Given the description of an element on the screen output the (x, y) to click on. 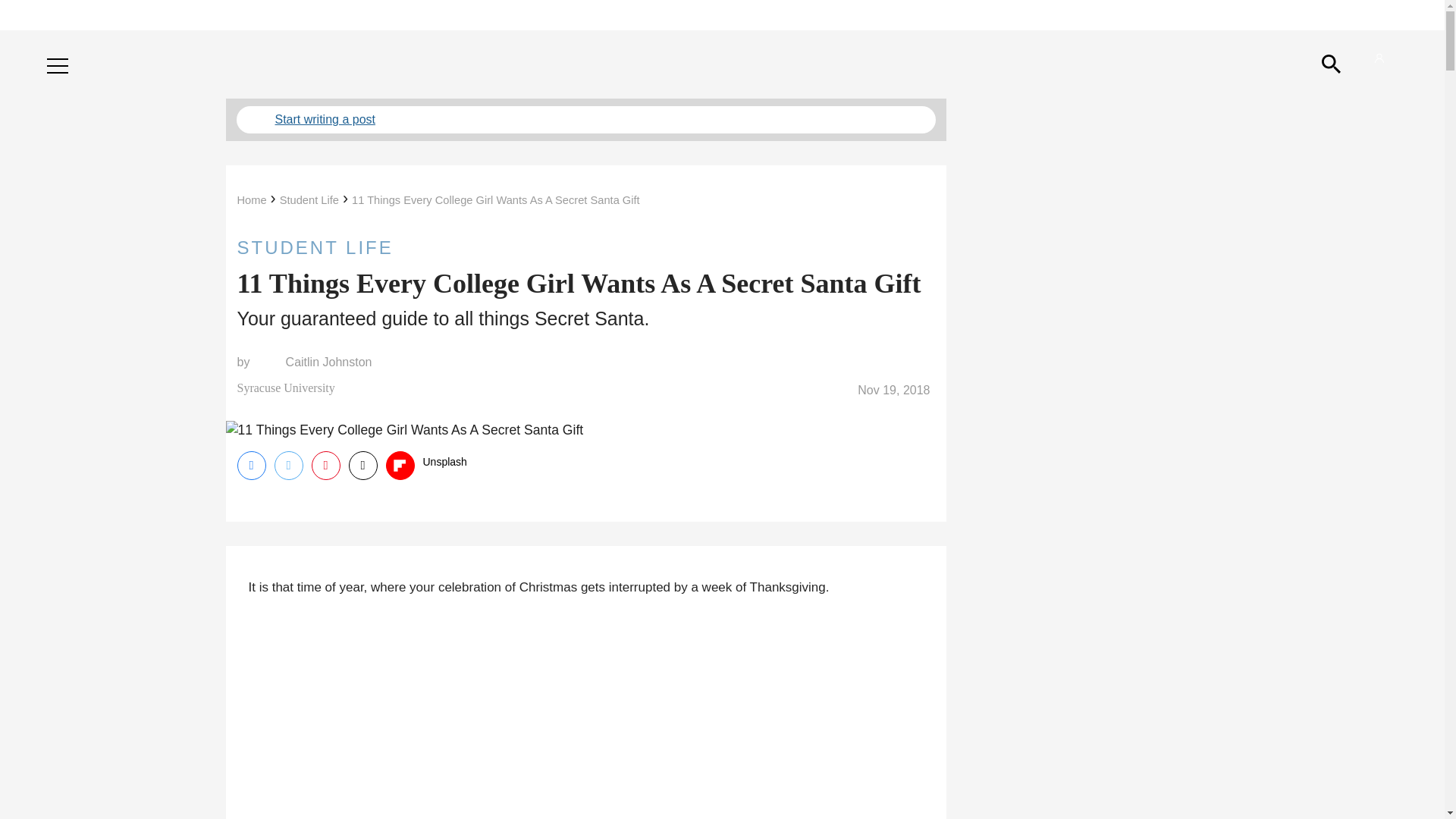
11 Things Every College Girl Wants As A Secret Santa Gift (496, 200)
Start writing a post (585, 119)
Caitlin Johnston (328, 362)
Home (250, 200)
Student Life (309, 200)
STUDENT LIFE (584, 248)
